Given the description of an element on the screen output the (x, y) to click on. 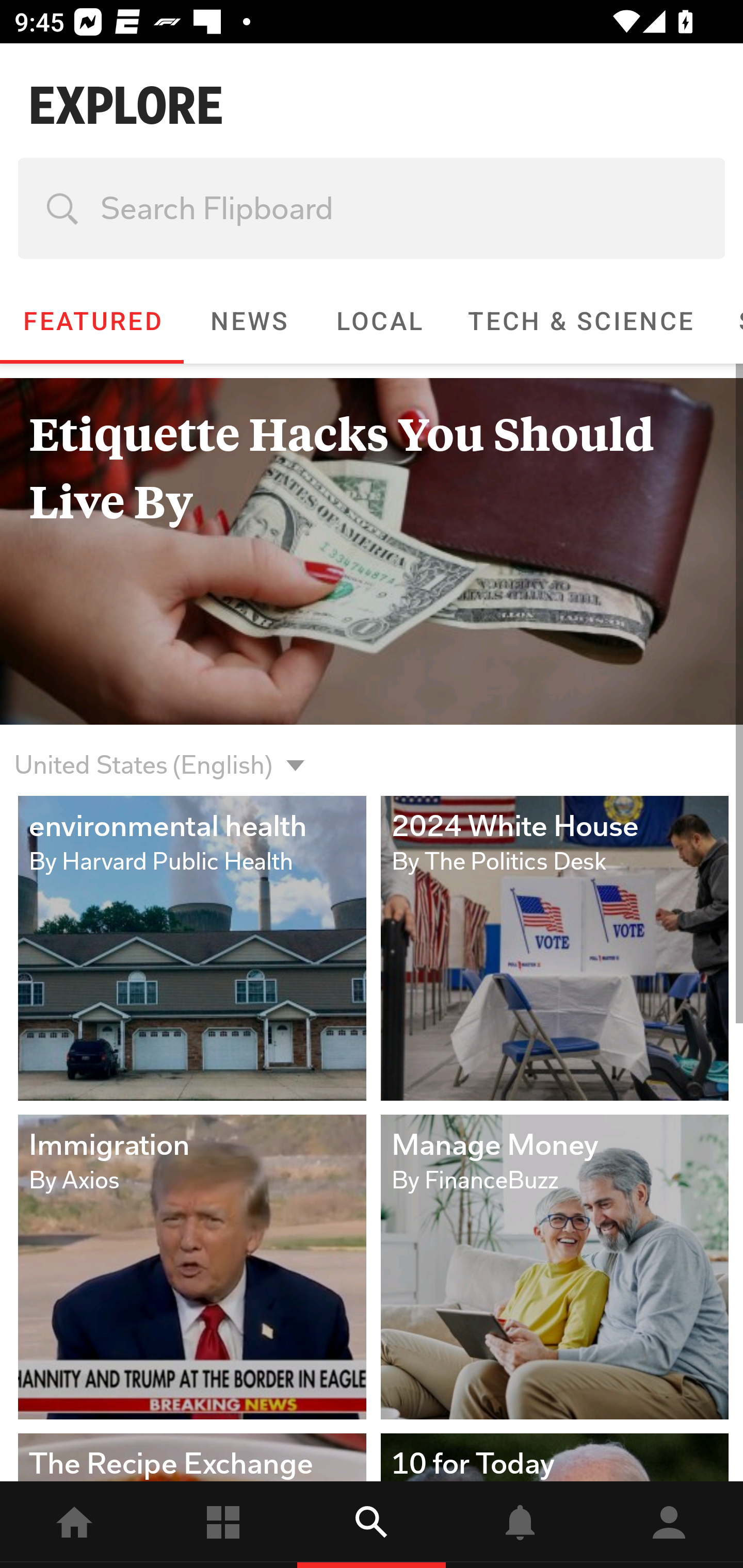
Search Flipboard (371, 208)
News NEWS (248, 320)
Local LOCAL (379, 320)
Tech & Science TECH & SCIENCE (580, 320)
United States (English) (143, 753)
home (74, 1524)
Following (222, 1524)
explore (371, 1524)
Notifications (519, 1524)
Profile (668, 1524)
